Given the description of an element on the screen output the (x, y) to click on. 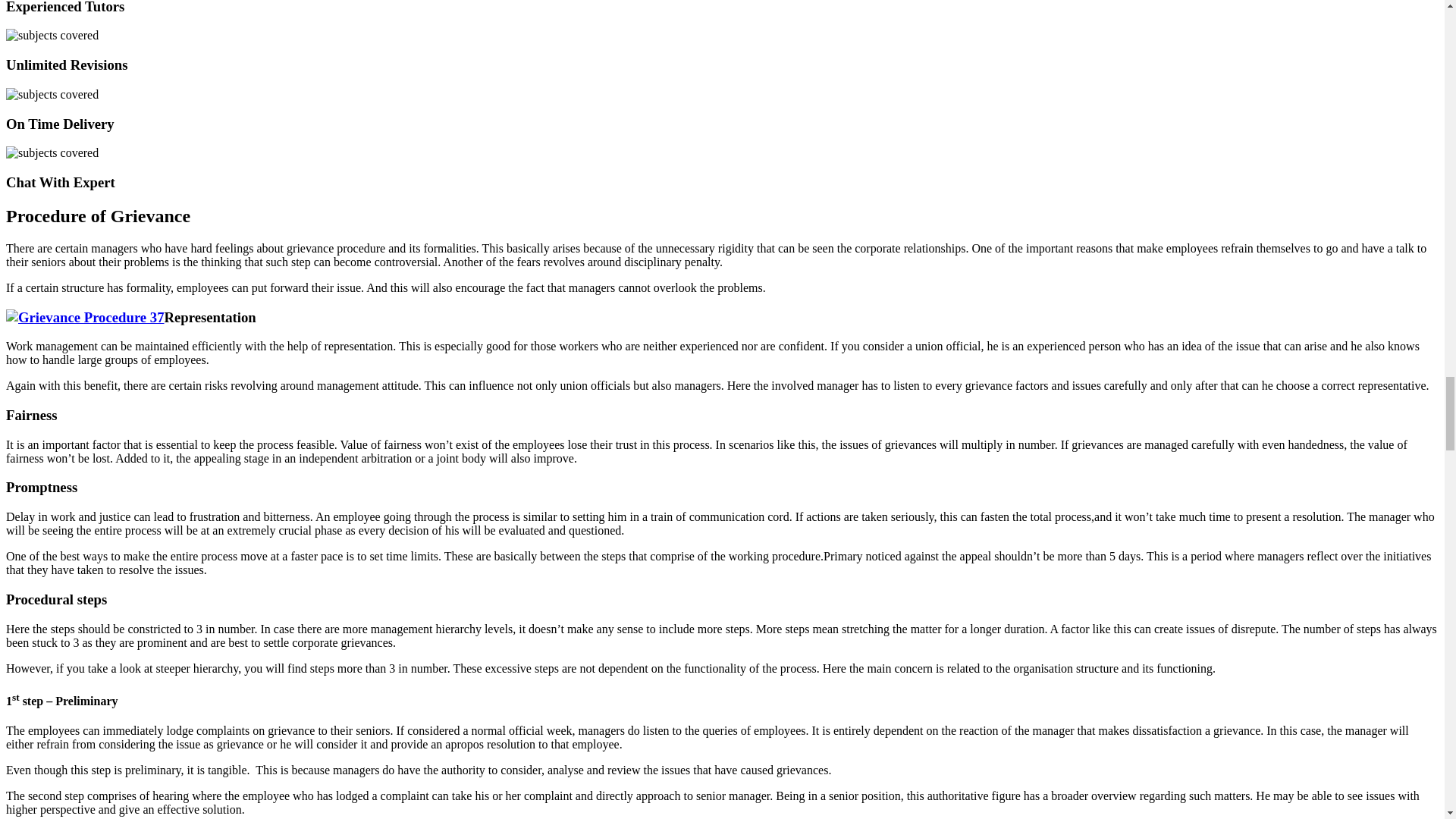
Grievance Procedure 1 (84, 317)
